Given the description of an element on the screen output the (x, y) to click on. 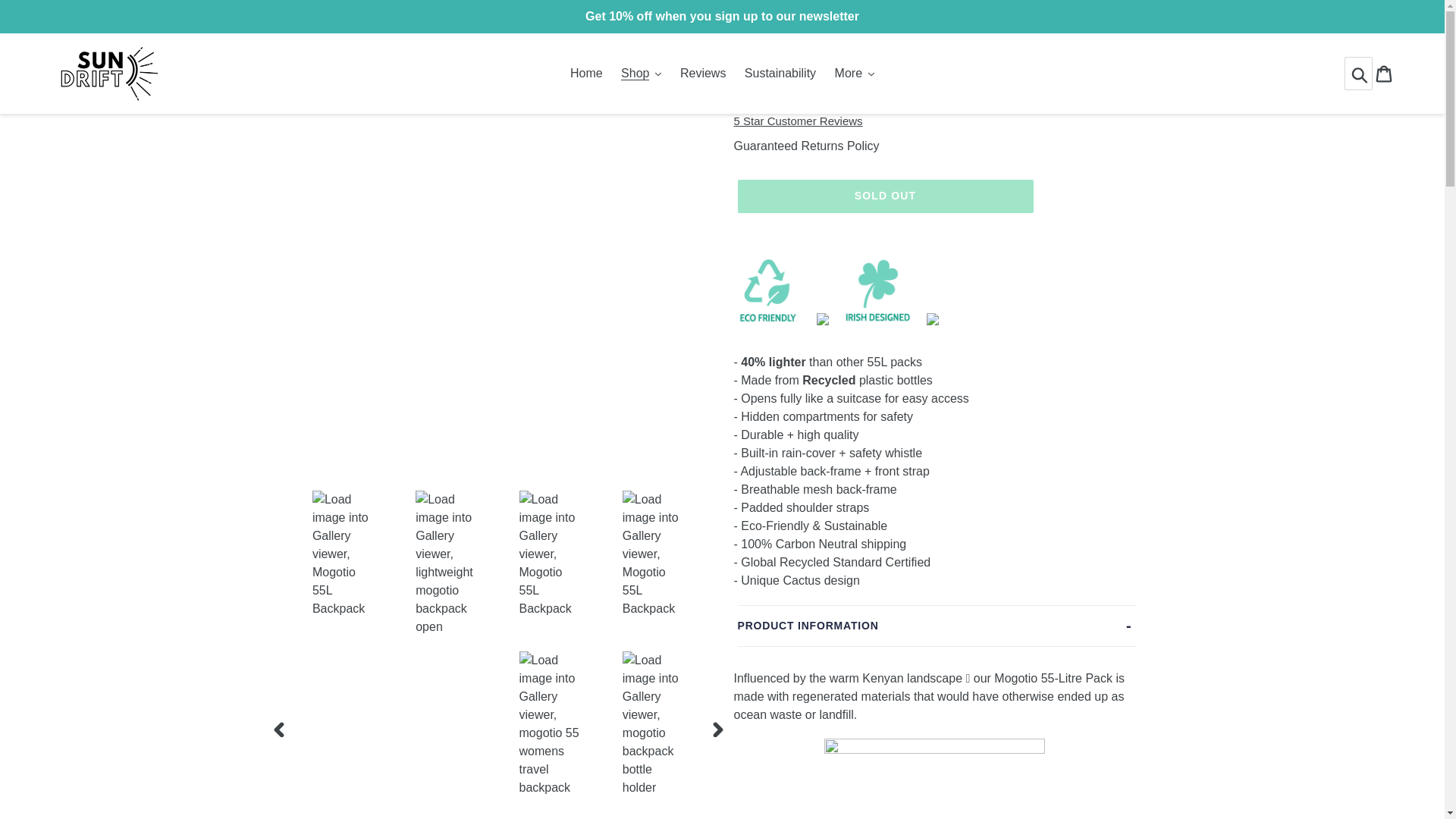
Cart (1385, 73)
Sustainability (780, 73)
Reviews (702, 73)
Submit (1360, 73)
Home (586, 73)
